Given the description of an element on the screen output the (x, y) to click on. 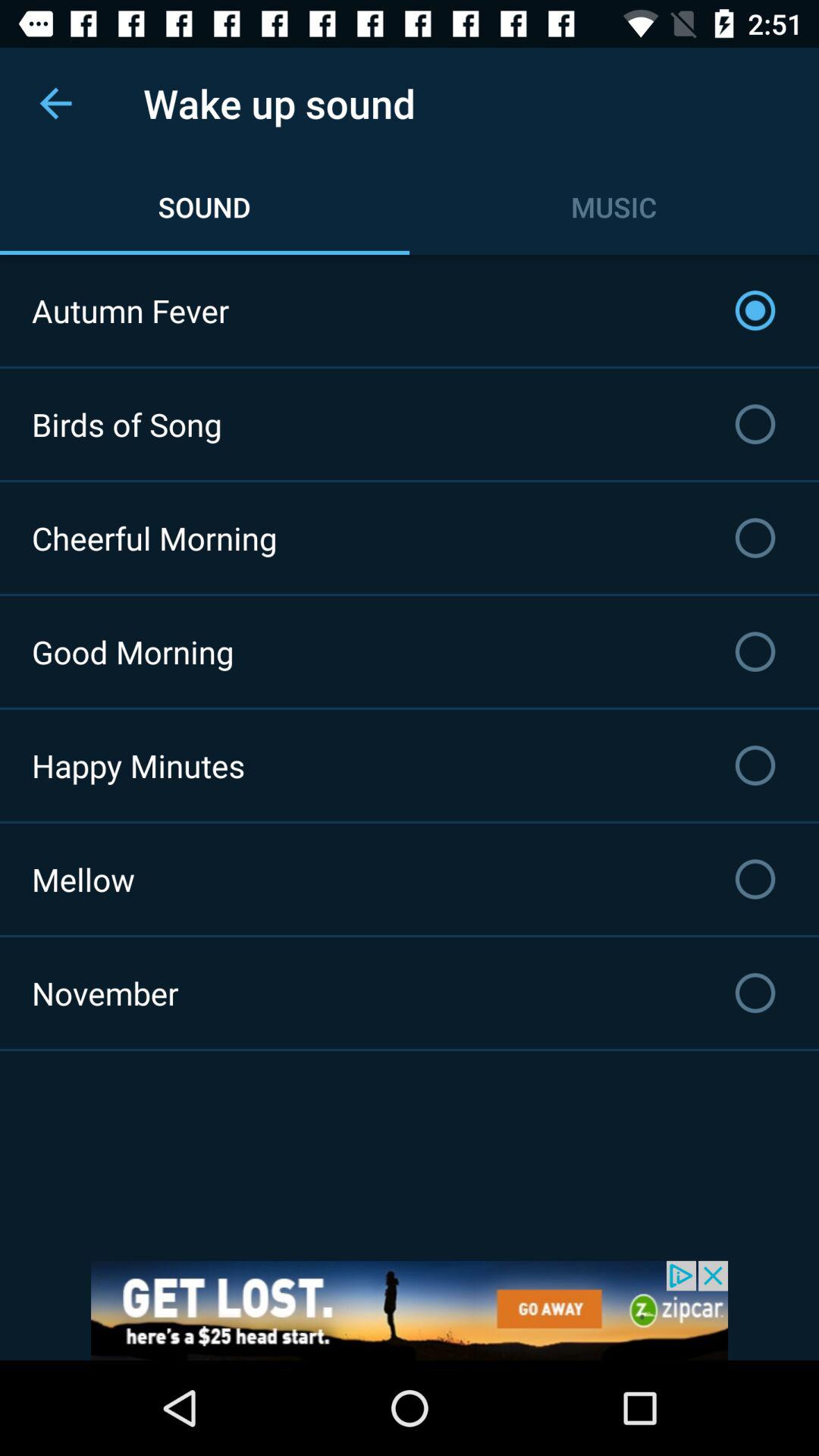
open advertisement (409, 1310)
